Given the description of an element on the screen output the (x, y) to click on. 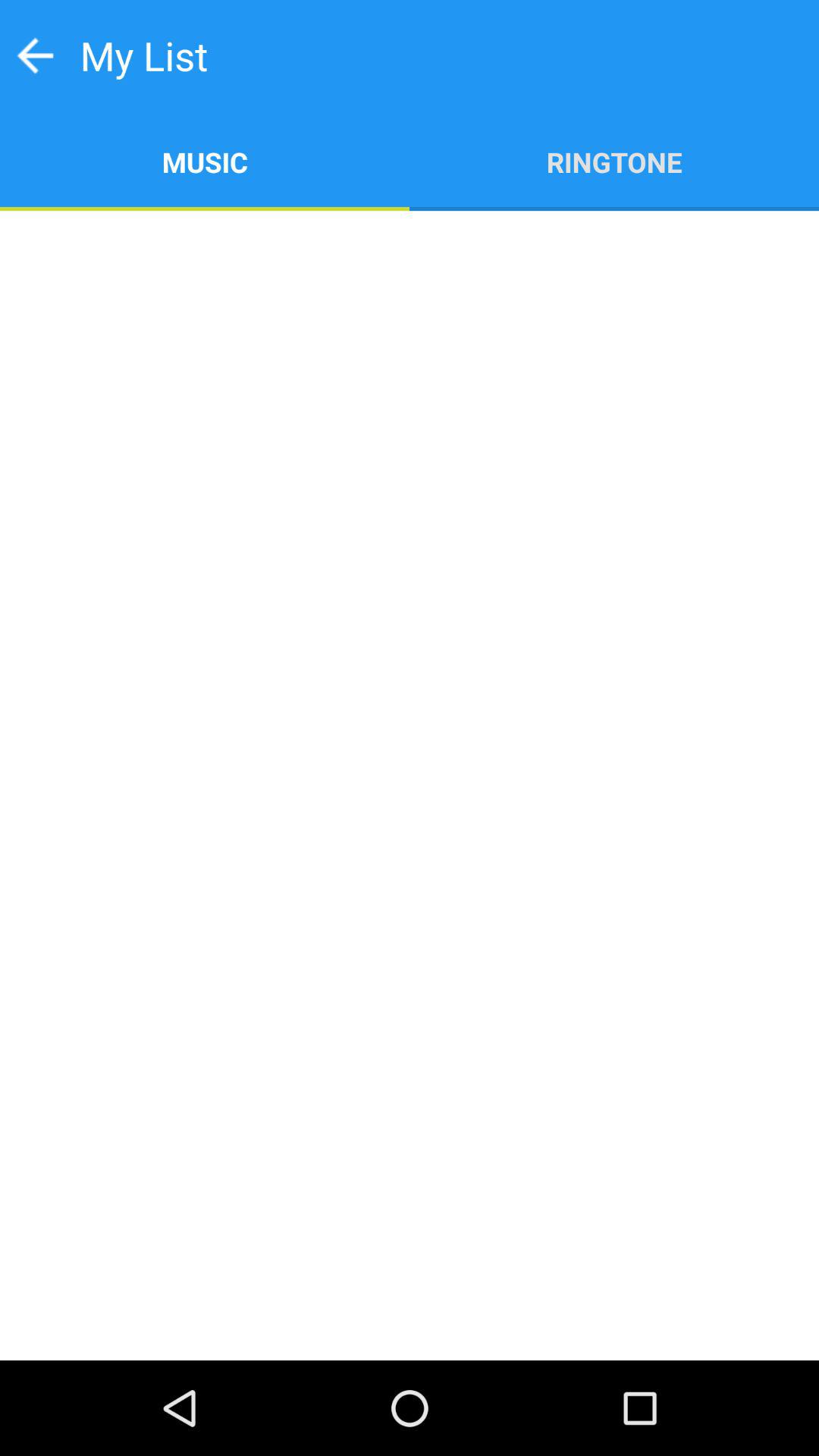
turn on the icon above the music item (35, 55)
